Given the description of an element on the screen output the (x, y) to click on. 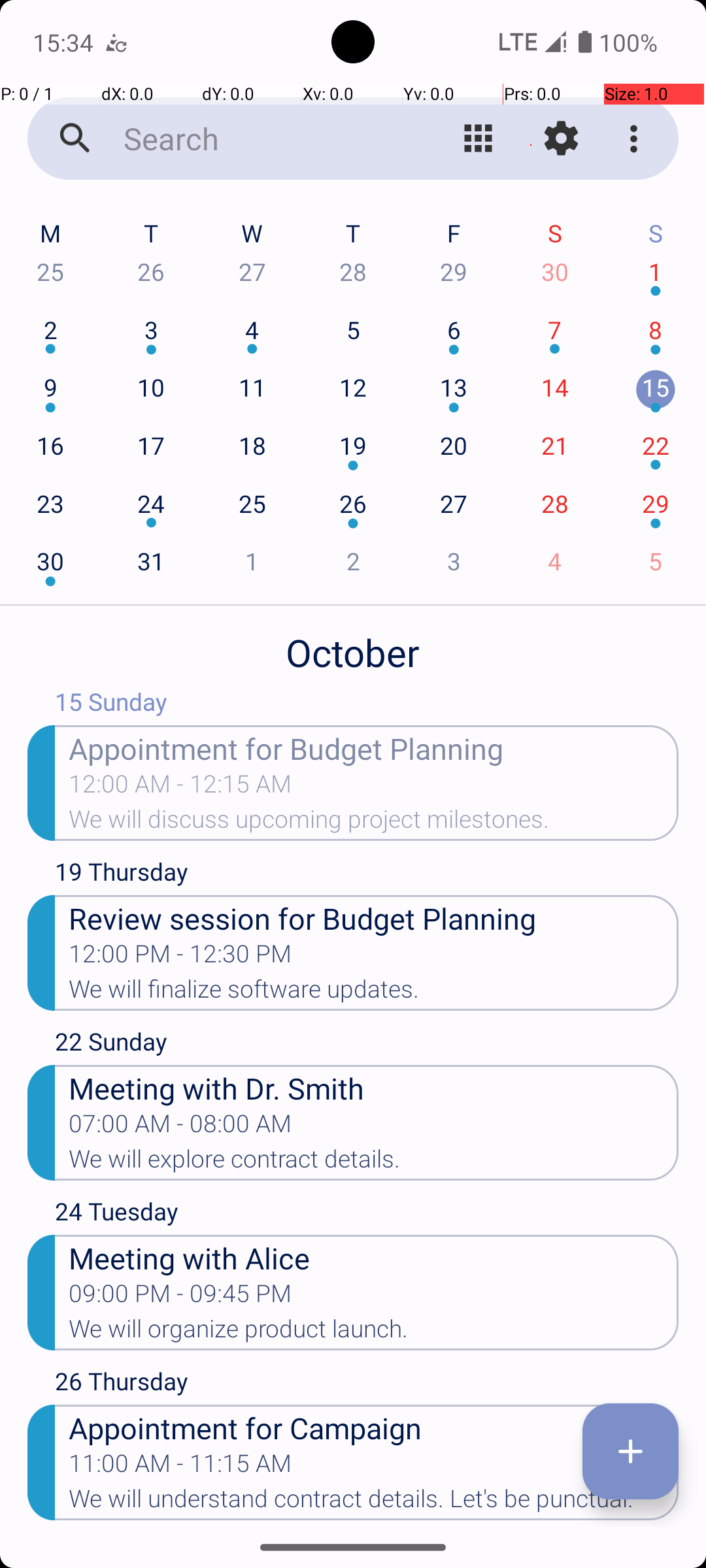
15 Sunday Element type: android.widget.TextView (366, 704)
19 Thursday Element type: android.widget.TextView (366, 874)
22 Sunday Element type: android.widget.TextView (366, 1044)
24 Tuesday Element type: android.widget.TextView (366, 1214)
26 Thursday Element type: android.widget.TextView (366, 1384)
12:00 AM - 12:15 AM Element type: android.widget.TextView (179, 787)
We will discuss upcoming project milestones. Element type: android.widget.TextView (373, 822)
Review session for Budget Planning Element type: android.widget.TextView (373, 917)
12:00 PM - 12:30 PM Element type: android.widget.TextView (179, 957)
We will finalize software updates. Element type: android.widget.TextView (373, 992)
Meeting with Dr. Smith Element type: android.widget.TextView (373, 1087)
07:00 AM - 08:00 AM Element type: android.widget.TextView (179, 1127)
We will explore contract details. Element type: android.widget.TextView (373, 1162)
Meeting with Alice Element type: android.widget.TextView (373, 1256)
09:00 PM - 09:45 PM Element type: android.widget.TextView (179, 1297)
We will organize product launch. Element type: android.widget.TextView (373, 1332)
Appointment for Campaign Element type: android.widget.TextView (373, 1426)
11:00 AM - 11:15 AM Element type: android.widget.TextView (179, 1467)
We will understand contract details. Let's be punctual. Element type: android.widget.TextView (373, 1502)
